Given the description of an element on the screen output the (x, y) to click on. 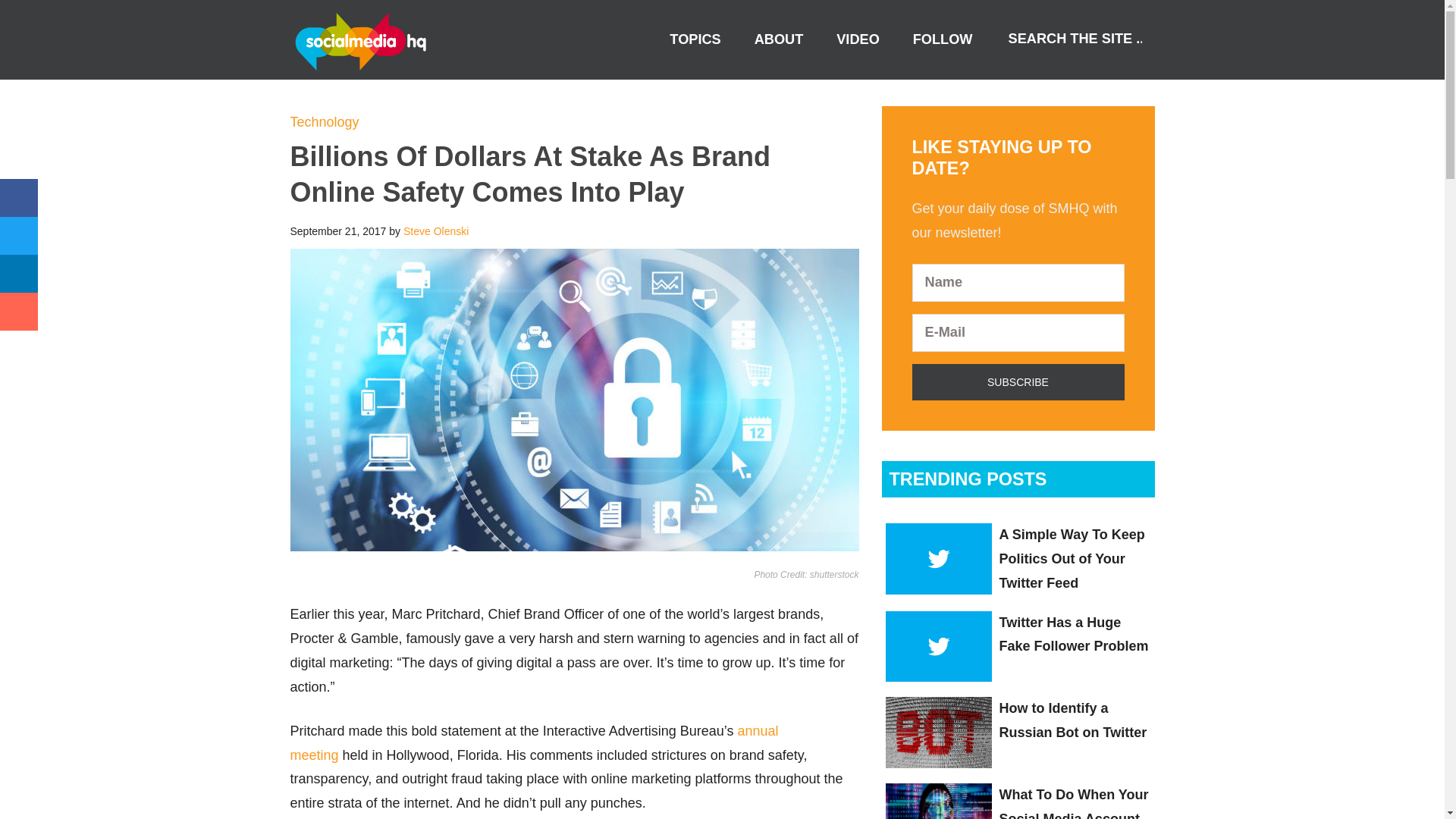
Steve Olenski (435, 231)
TOPICS (694, 39)
Twitter (18, 235)
What To Do When Your Social Media Account Gets Hacked (1073, 803)
VIDEO (858, 39)
FOLLOW (943, 39)
Social Media HQ (365, 41)
Email (18, 311)
Subscribe (1017, 381)
Technology (323, 121)
How to Identify a Russian Bot on Twitter (1072, 720)
A Simple Way To Keep Politics Out of Your Twitter Feed (1071, 558)
